Given the description of an element on the screen output the (x, y) to click on. 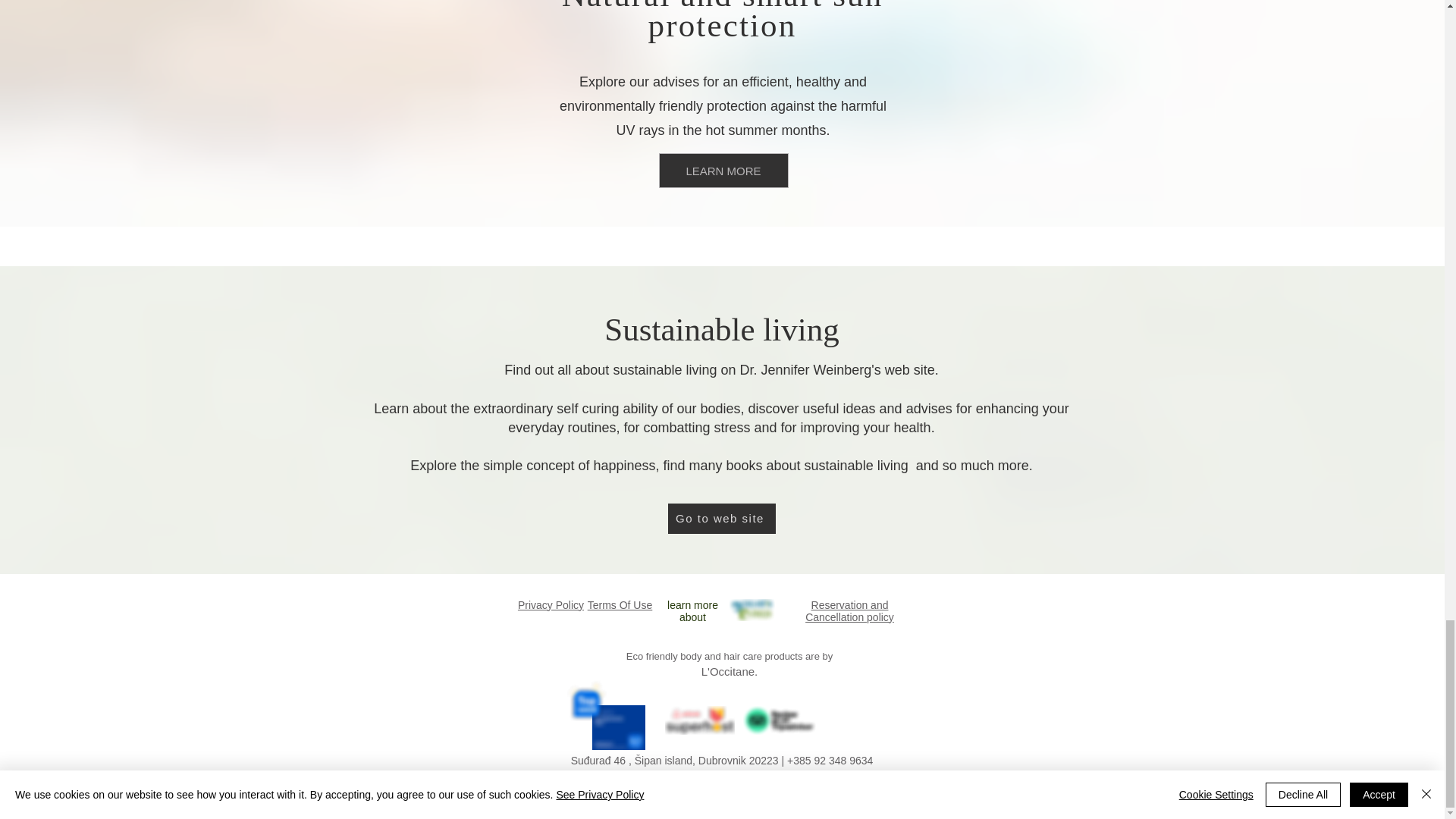
Reservation and Cancellation policy (849, 610)
LEARN MORE (722, 170)
Go to web site (720, 518)
Terms Of Use (620, 604)
Privacy Policy (550, 604)
